Given the description of an element on the screen output the (x, y) to click on. 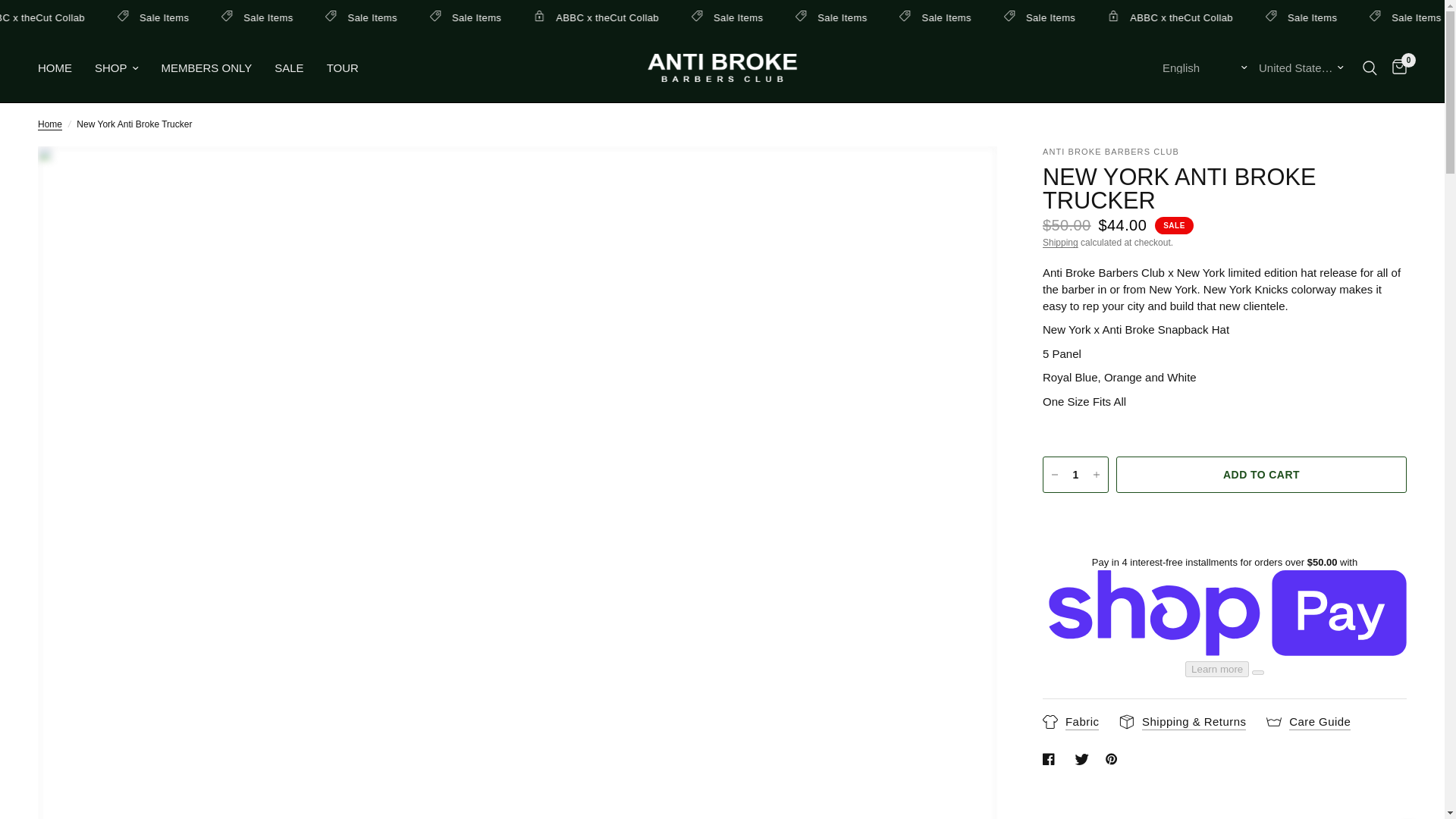
MEMBERS ONLY (206, 67)
TOUR (342, 67)
SALE (288, 67)
MEMBERS ONLY (206, 67)
Sale Items (349, 16)
HOME (54, 67)
ABBC x theCut Collab (1258, 16)
Sale Items (452, 16)
Sale Items (555, 16)
SHOP (116, 67)
